Given the description of an element on the screen output the (x, y) to click on. 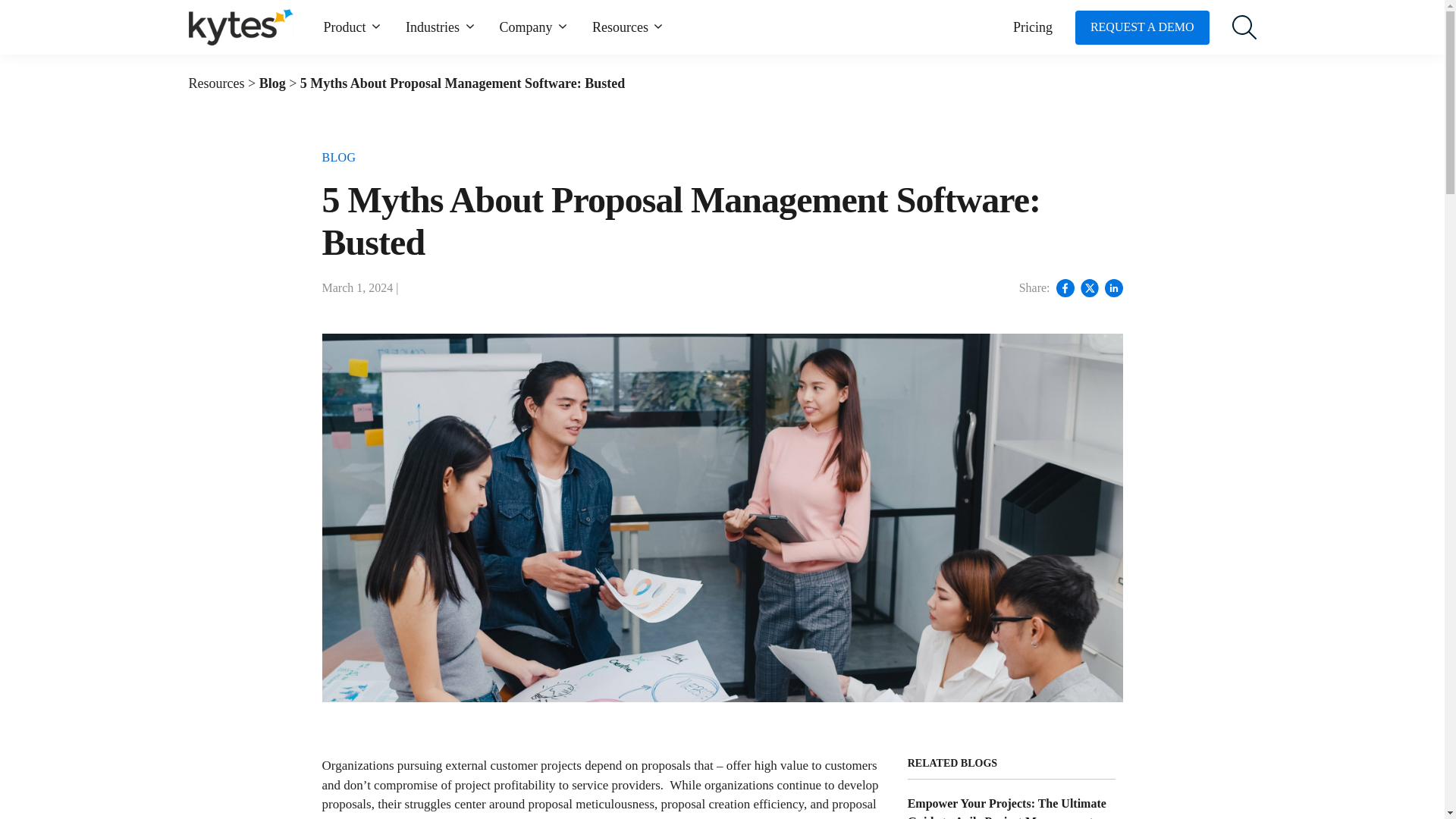
Industries (441, 27)
Resources (628, 27)
Product (352, 27)
Pricing (1032, 26)
Company (534, 27)
REQUEST A DEMO (1142, 27)
